Given the description of an element on the screen output the (x, y) to click on. 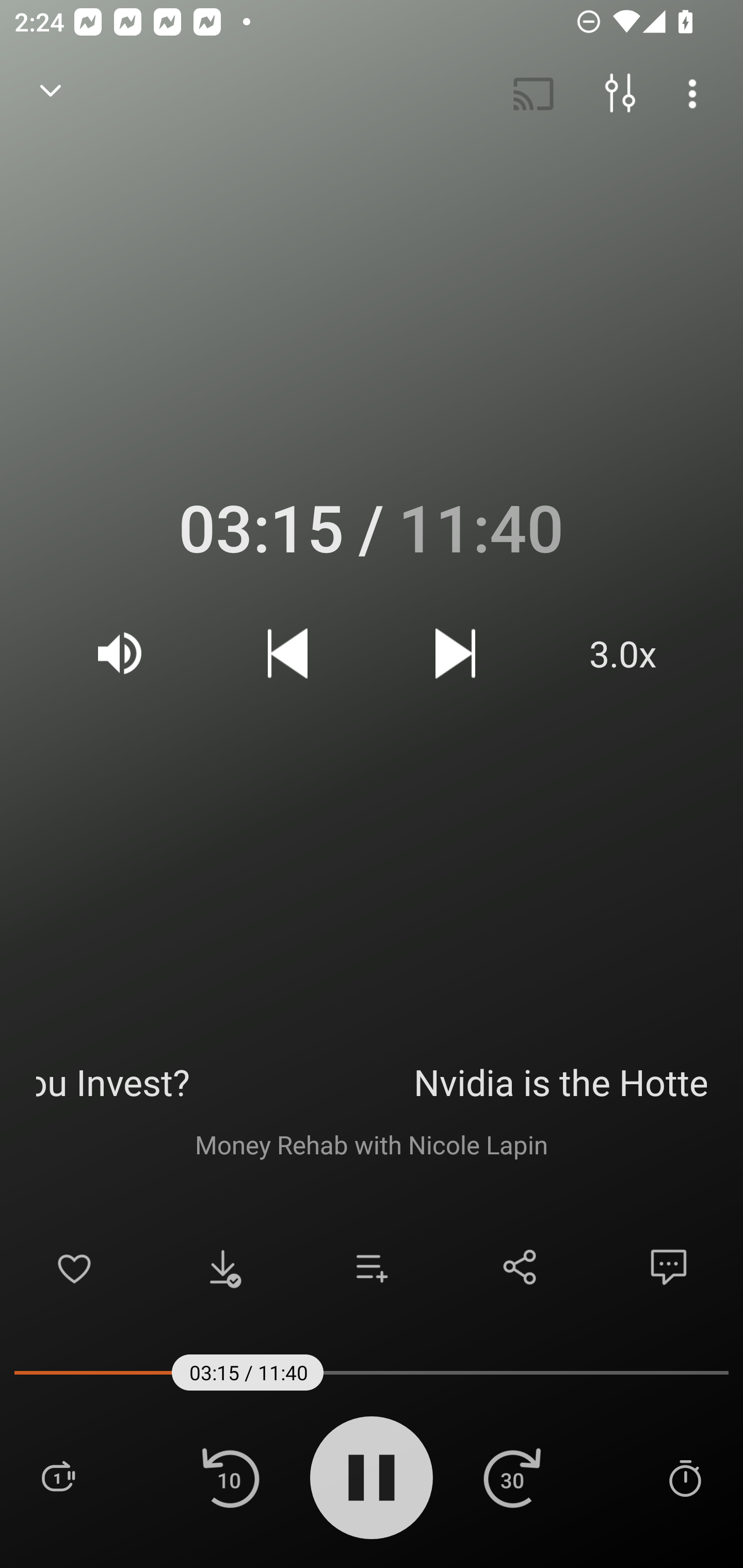
Cast. Disconnected (533, 93)
 Back (50, 94)
03:15 / 11:40 3.0x (371, 594)
3.0x (622, 652)
Money Rehab with Nicole Lapin (371, 1144)
Comments (668, 1266)
Add to Favorites (73, 1266)
Add to playlist (371, 1266)
Share (519, 1266)
 Playlist (57, 1477)
Sleep Timer  (684, 1477)
